Given the description of an element on the screen output the (x, y) to click on. 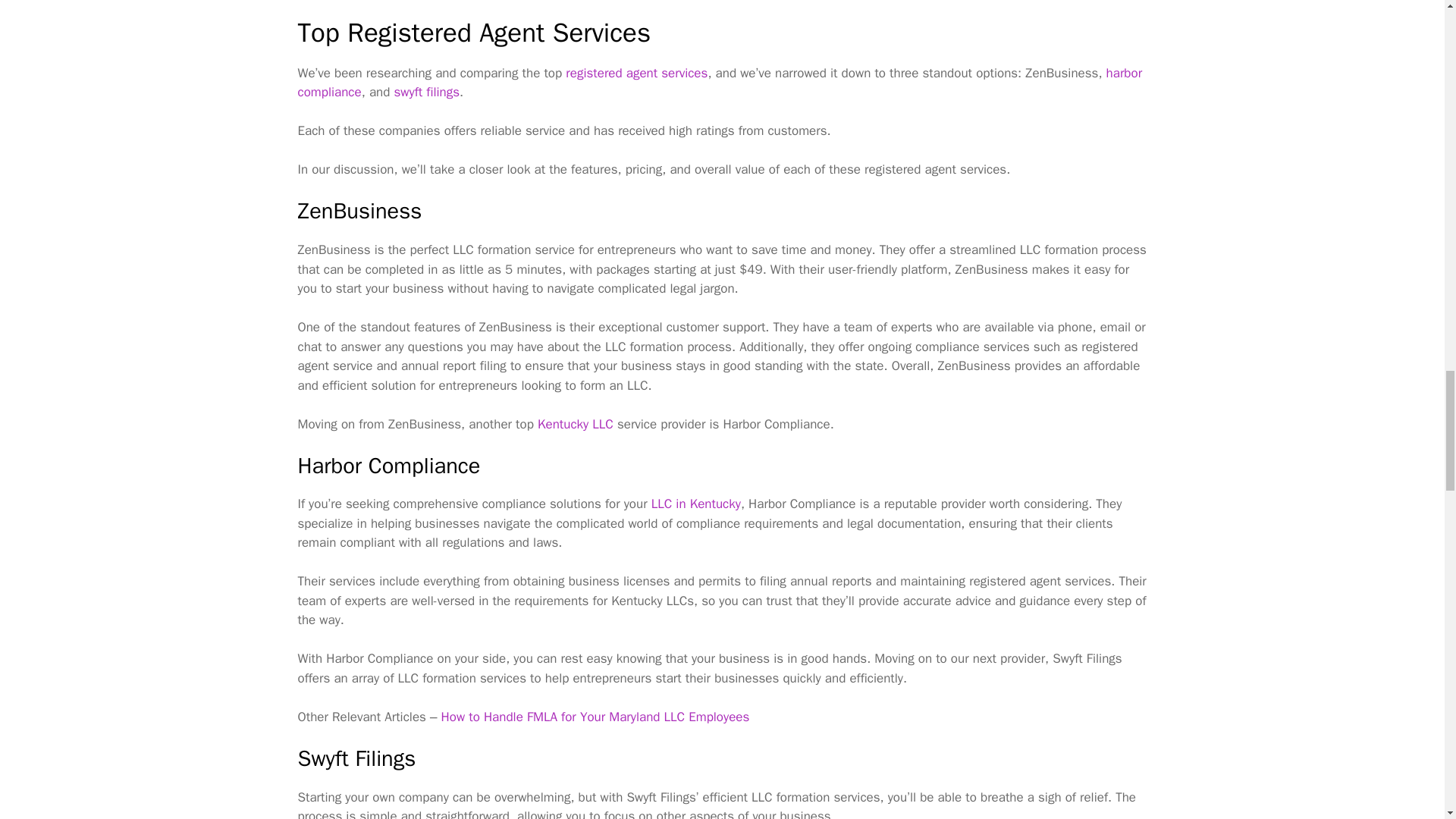
Find the Perfect Registered Agent Services of 2023 (636, 73)
